Given the description of an element on the screen output the (x, y) to click on. 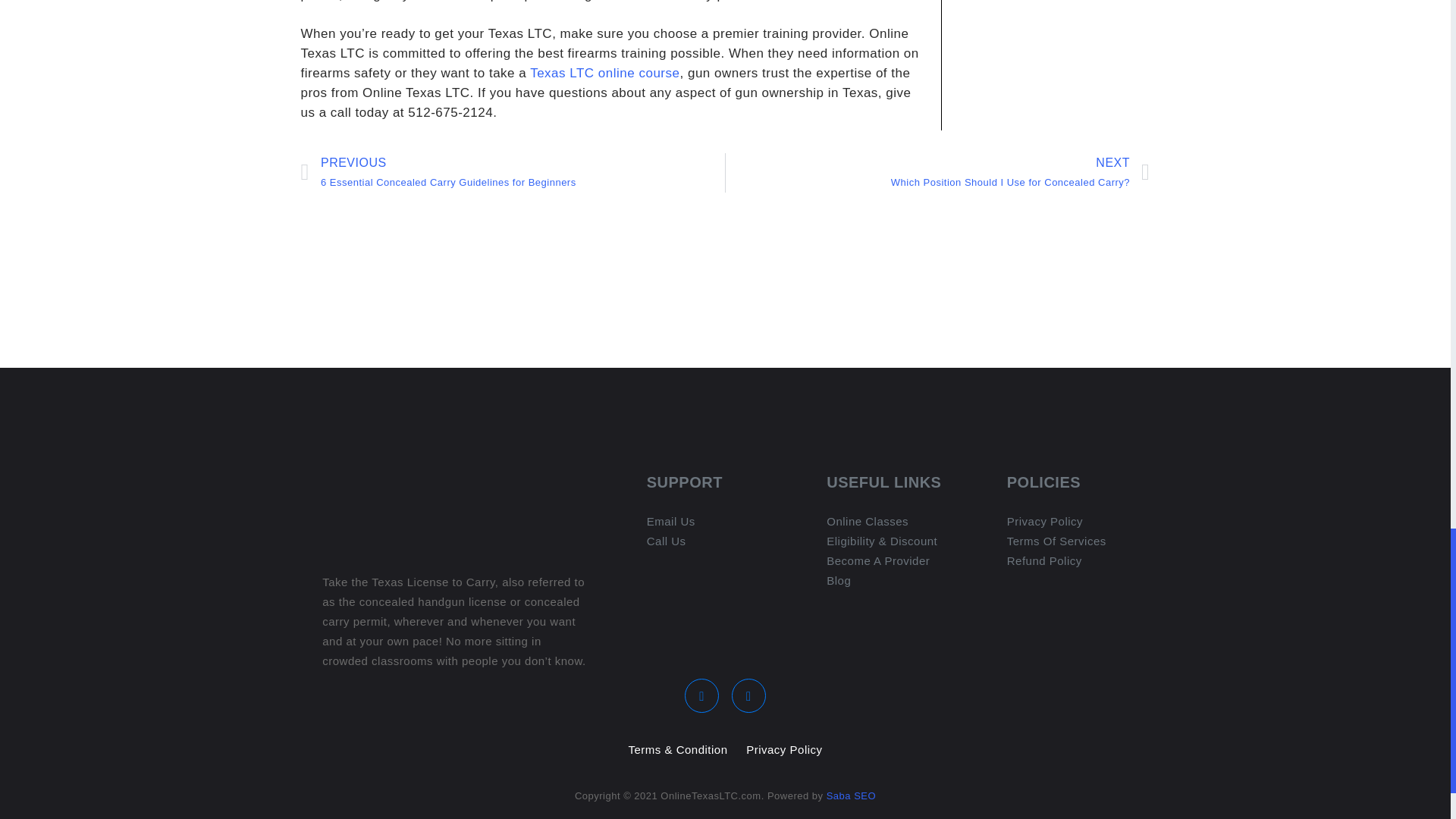
Texas LTC online course (604, 73)
